Given the description of an element on the screen output the (x, y) to click on. 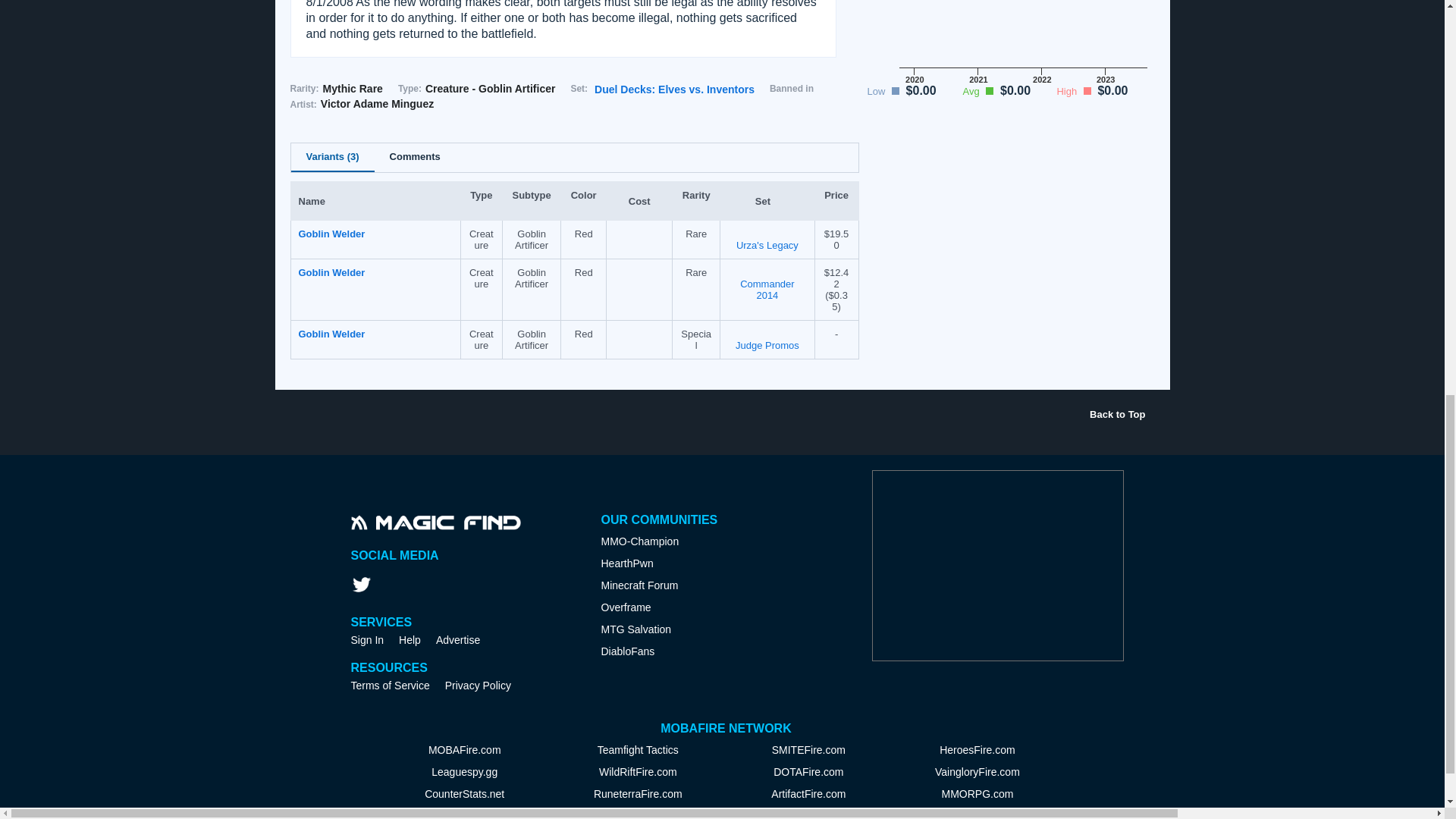
1 Red Mana (638, 232)
1 Red Mana (638, 271)
In Last 24 Hours (836, 300)
Duel Decks: Elves vs. Inventors (674, 89)
1 Red Mana (638, 332)
